Given the description of an element on the screen output the (x, y) to click on. 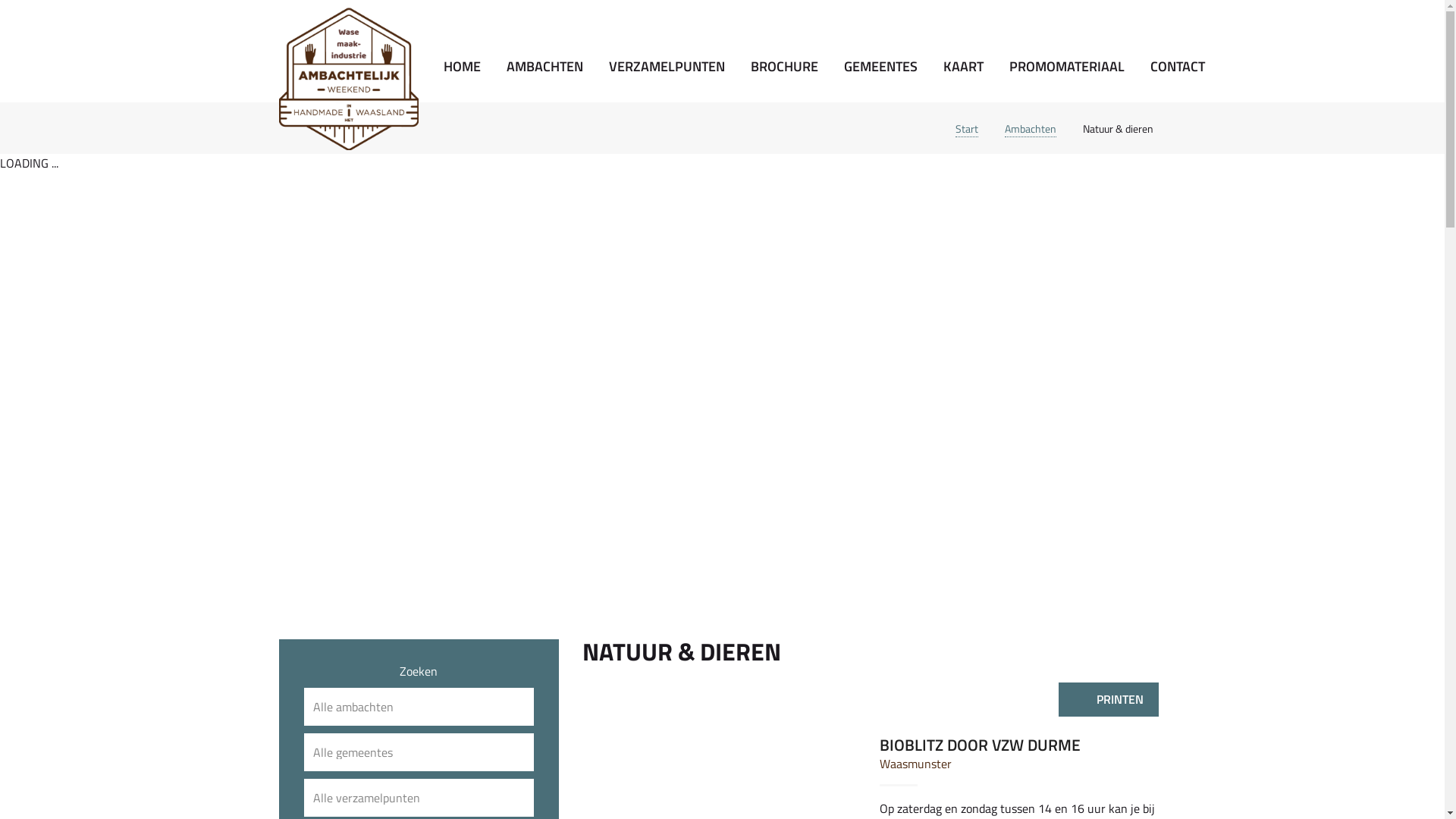
CONTACT Element type: text (1177, 66)
GEMEENTES Element type: text (880, 66)
HOME Element type: text (461, 66)
Ontdek het Waasland Element type: hover (348, 77)
VERZAMELPUNTEN Element type: text (666, 66)
AMBACHTEN Element type: text (544, 66)
Start Element type: text (966, 128)
BIOBLITZ DOOR VZW DURME Element type: text (979, 744)
PROMOMATERIAAL Element type: text (1066, 66)
BROCHURE Element type: text (783, 66)
Ambachten Element type: text (1029, 128)
KAART Element type: text (962, 66)
PRINTEN Element type: text (1112, 699)
